Given the description of an element on the screen output the (x, y) to click on. 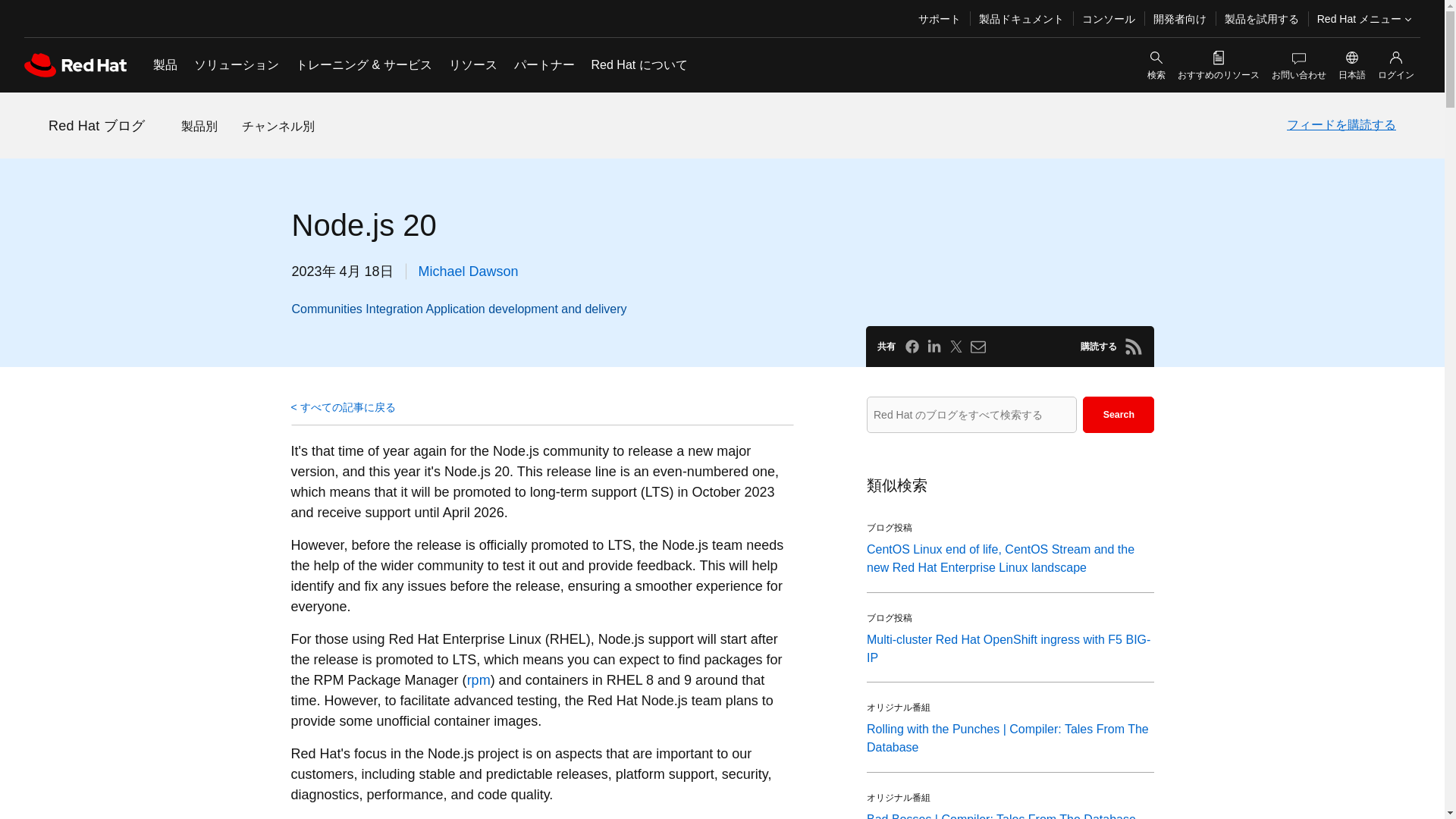
See more by Michael Dawson (468, 271)
